Given the description of an element on the screen output the (x, y) to click on. 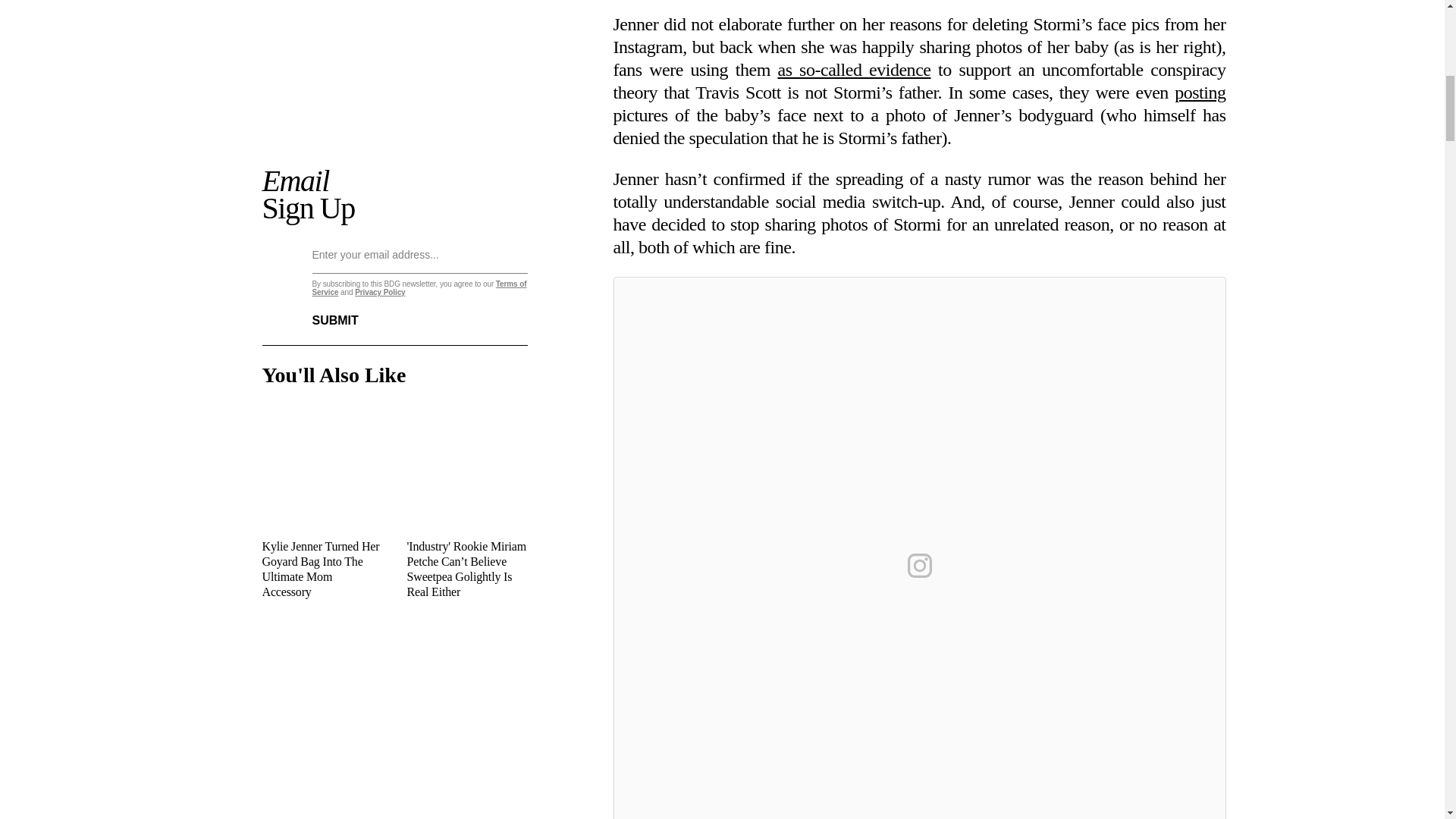
View on Instagram (919, 565)
posting (1199, 92)
as so-called evidence (853, 69)
